Given the description of an element on the screen output the (x, y) to click on. 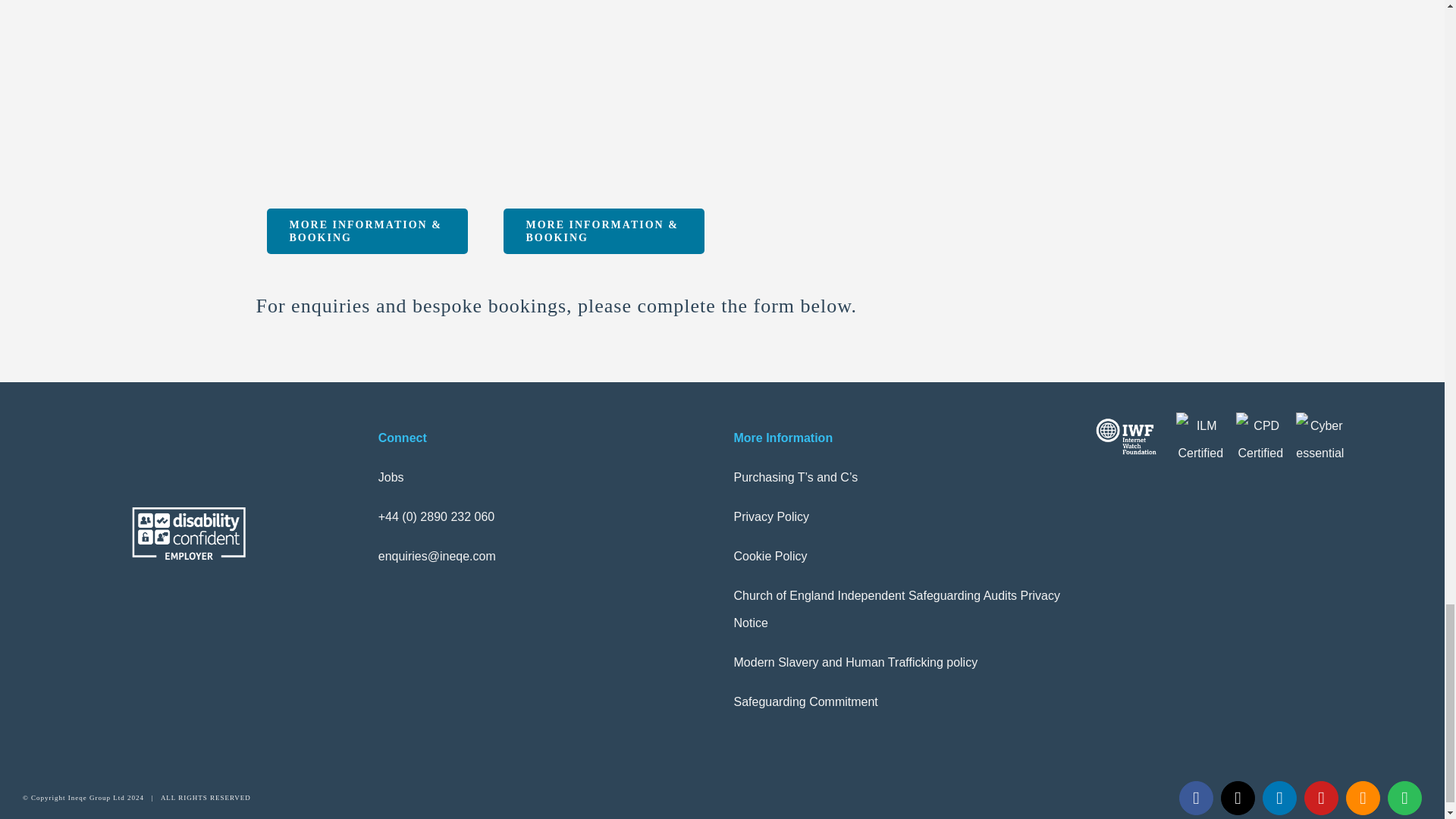
Facebook (1195, 797)
YouTube (1321, 797)
SoundCloud (1362, 797)
Spotify (1404, 797)
LinkedIn (1279, 797)
X (1238, 797)
